Given the description of an element on the screen output the (x, y) to click on. 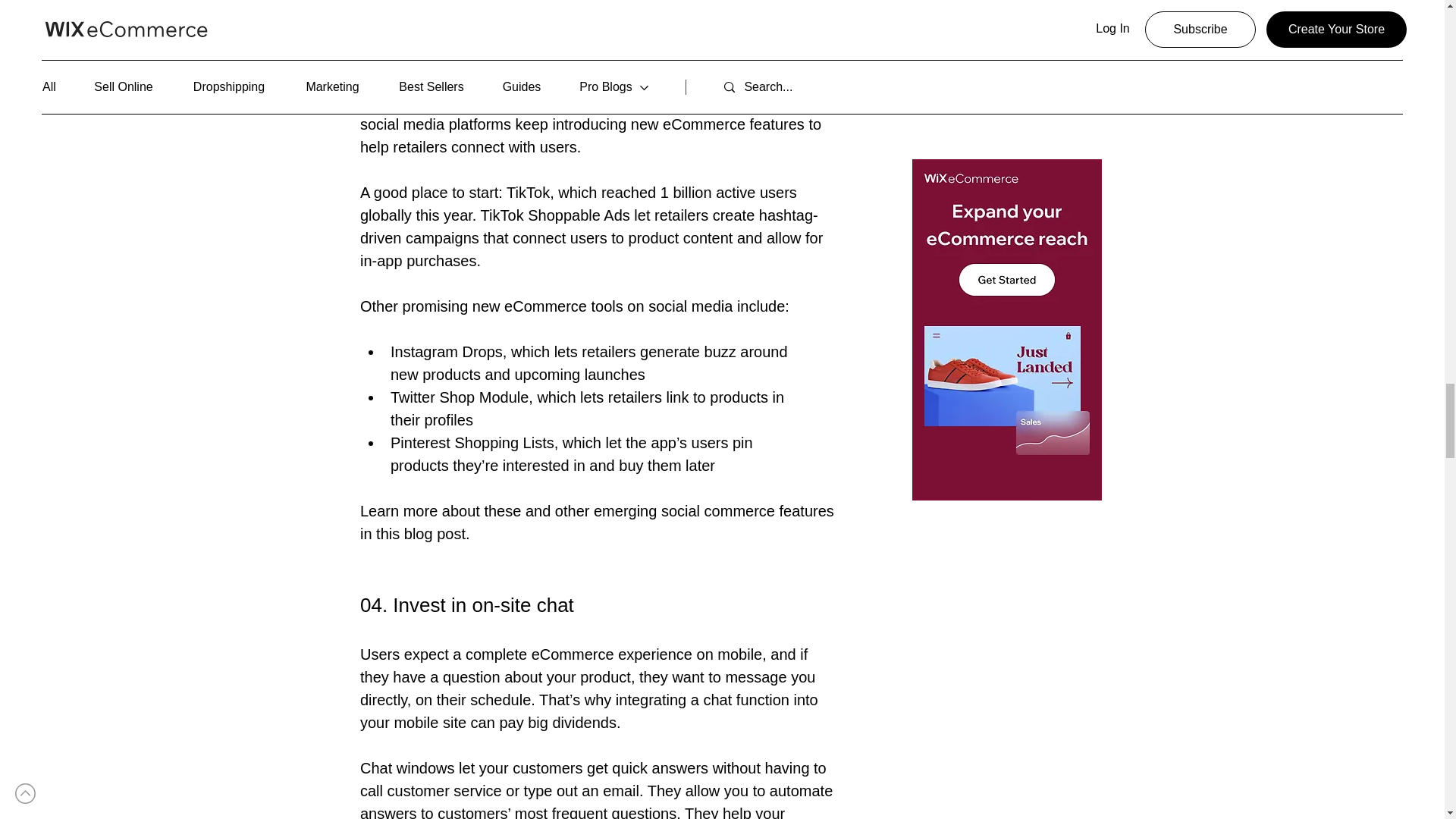
social commerce (647, 10)
